Given the description of an element on the screen output the (x, y) to click on. 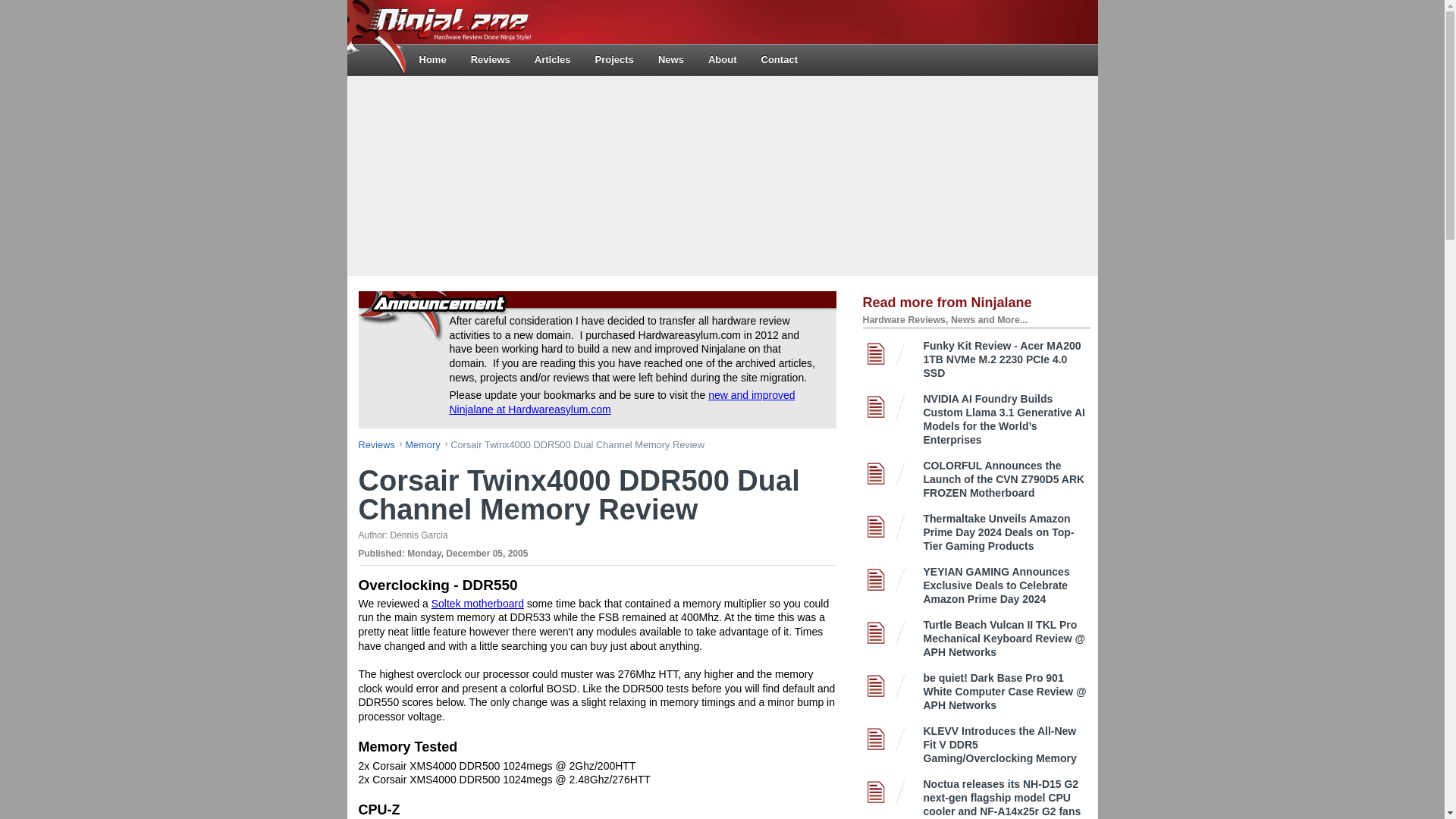
Funky Kit Review - Acer MA200 1TB NVMe M.2 2230 PCIe 4.0 SSD (1006, 359)
About (722, 59)
Soltek motherboard (477, 603)
Home (432, 59)
Projects (614, 59)
Reviews (490, 59)
Memory (425, 444)
Contact (779, 59)
Articles (552, 59)
new and improved Ninjalane at Hardwareasylum.com (621, 402)
